Given the description of an element on the screen output the (x, y) to click on. 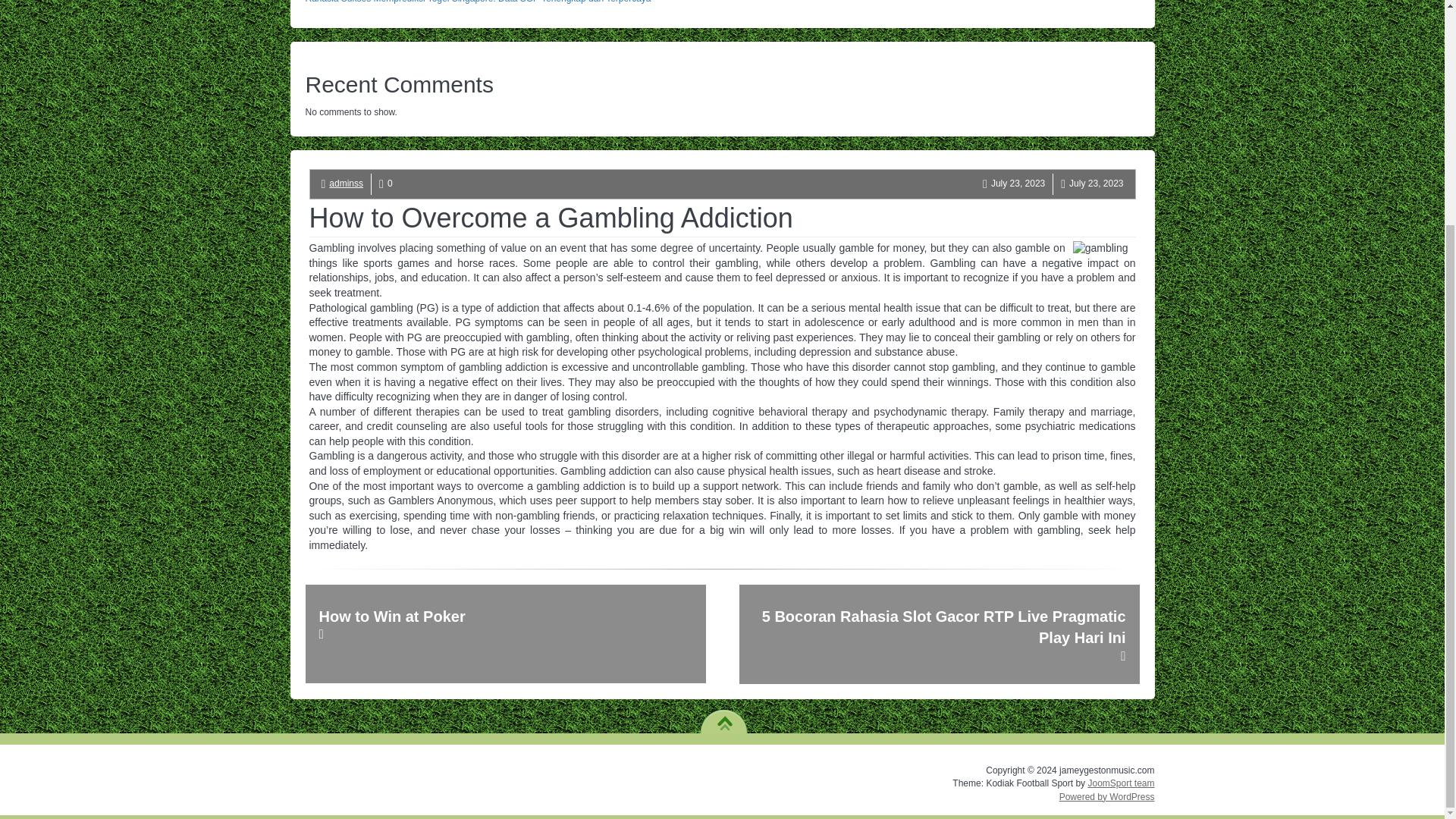
Powered by WordPress (1106, 796)
How to Win at Poker (504, 633)
TO TOP (723, 717)
JoomSport team (1120, 783)
 The Best WordPress Sport Plugin for your league and club  (1120, 783)
adminss (345, 183)
